Given the description of an element on the screen output the (x, y) to click on. 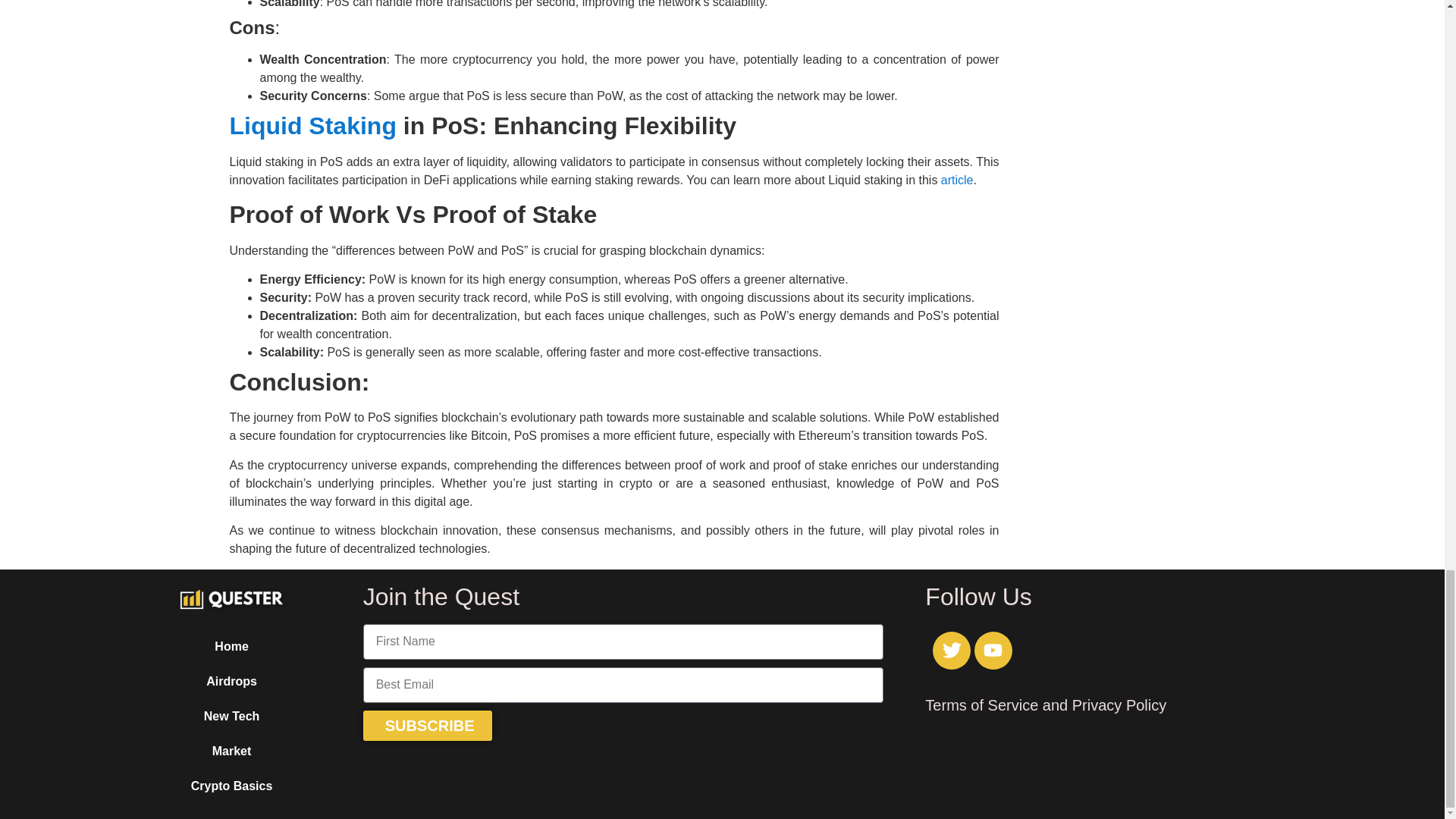
Crypto Basics (232, 786)
Market (232, 751)
Airdrops (232, 681)
New Tech (232, 716)
Liquid Staking (312, 125)
SUBSCRIBE (427, 725)
article (957, 179)
Home (232, 646)
